Given the description of an element on the screen output the (x, y) to click on. 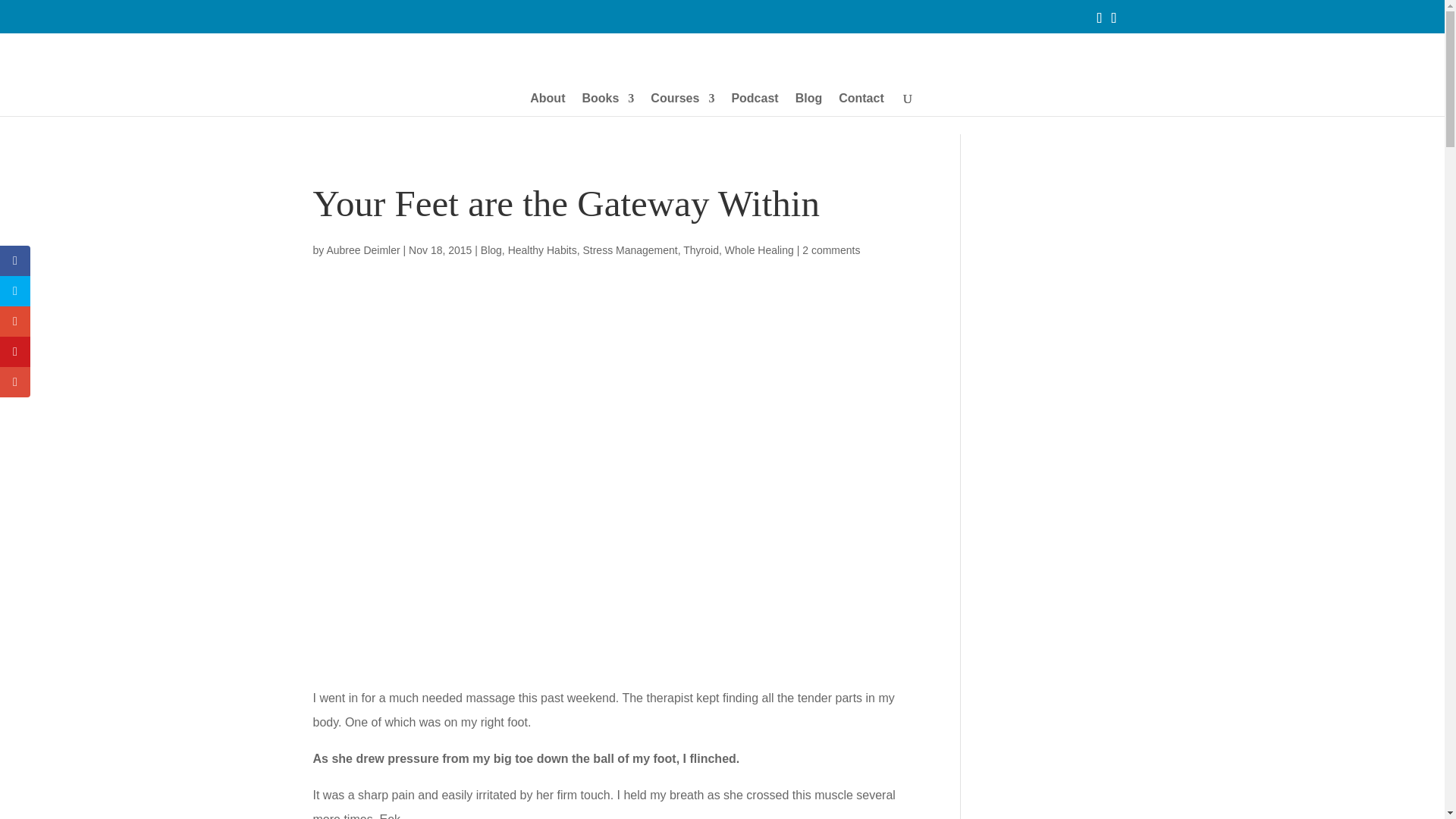
Courses (682, 104)
Books (606, 104)
Posts by Aubree Deimler (362, 250)
Healthy Habits (542, 250)
Thyroid (700, 250)
Aubree Deimler (362, 250)
About (546, 104)
Stress Management (629, 250)
Blog (491, 250)
Whole Healing (759, 250)
